Given the description of an element on the screen output the (x, y) to click on. 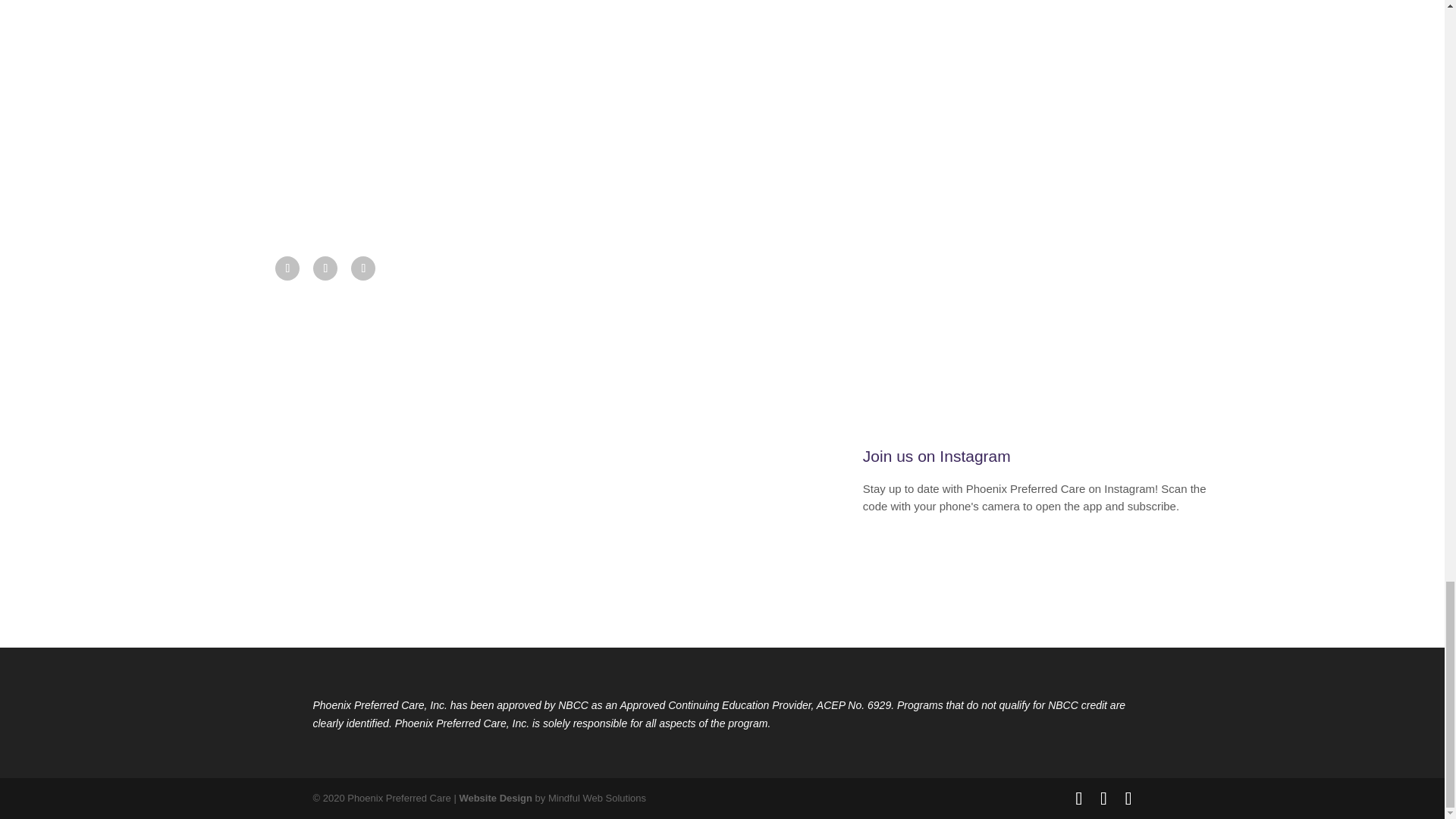
Follow on Facebook (287, 268)
Website Design (495, 797)
Follow on X (325, 268)
Follow on Instagram (362, 268)
Join us on Instagram (936, 456)
